Given the description of an element on the screen output the (x, y) to click on. 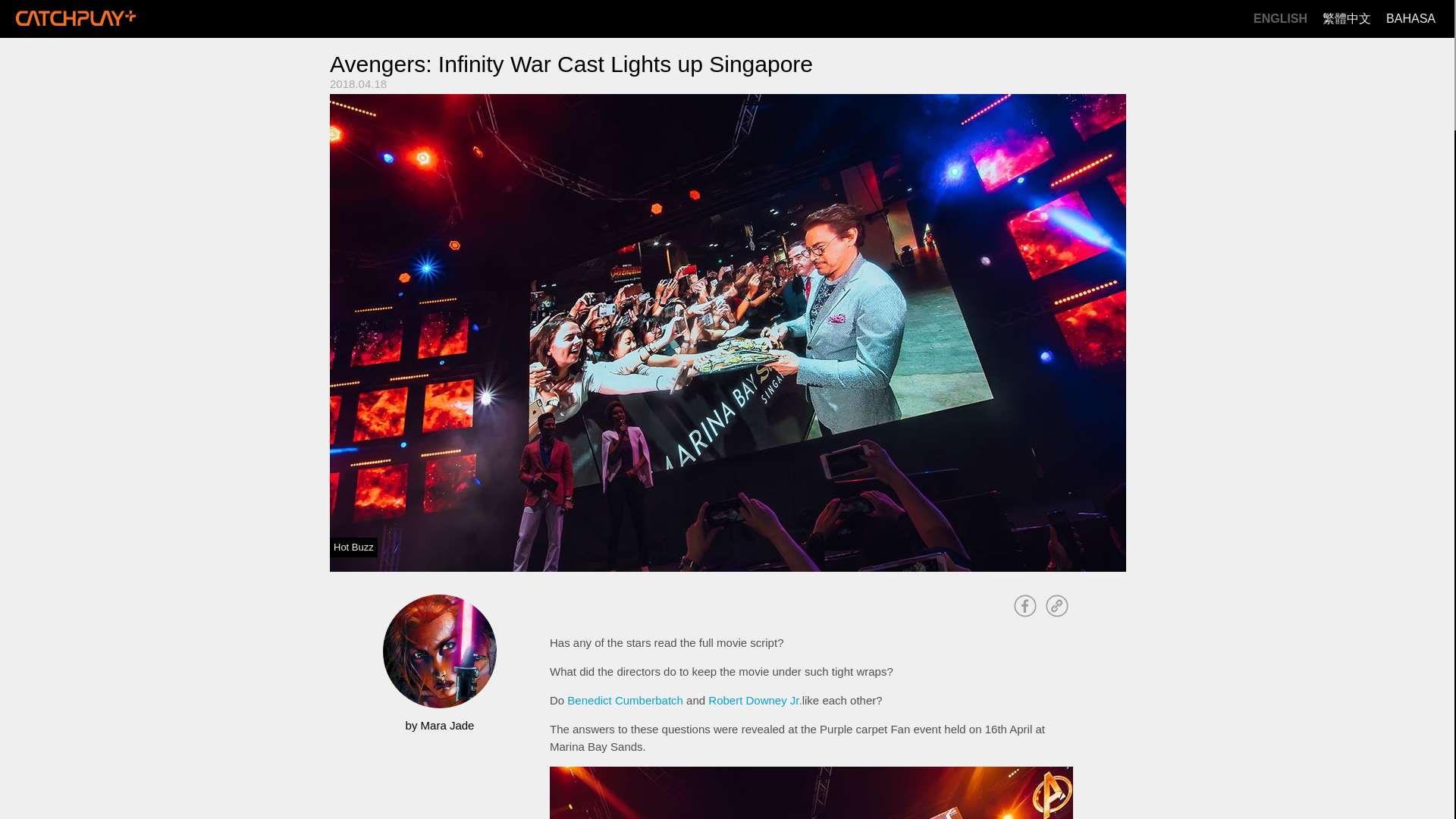
ENGLISH (1280, 19)
BAHASA (1410, 19)
Robert Downey Jr. (754, 699)
Benedict Cumberbatch (624, 699)
